Given the description of an element on the screen output the (x, y) to click on. 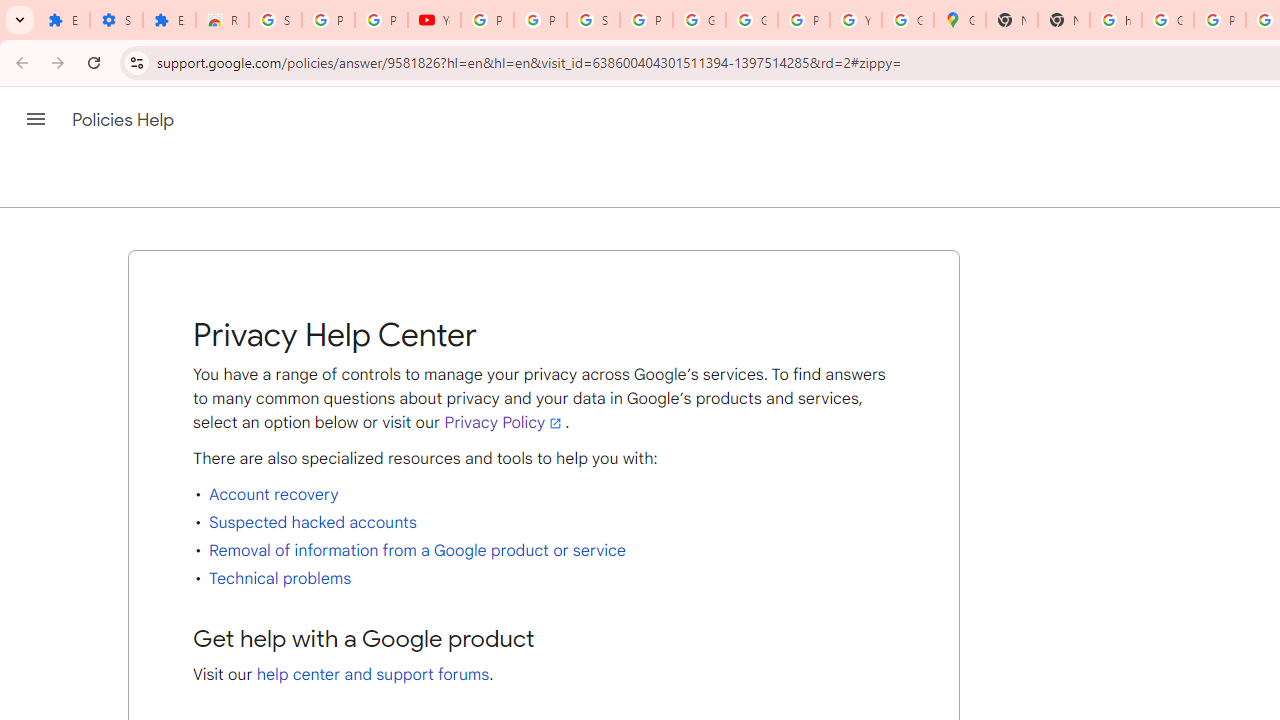
New Tab (1011, 20)
help center and support forums (373, 674)
Removal of information from a Google product or service (416, 550)
Policies Help (124, 119)
Extensions (63, 20)
